Given the description of an element on the screen output the (x, y) to click on. 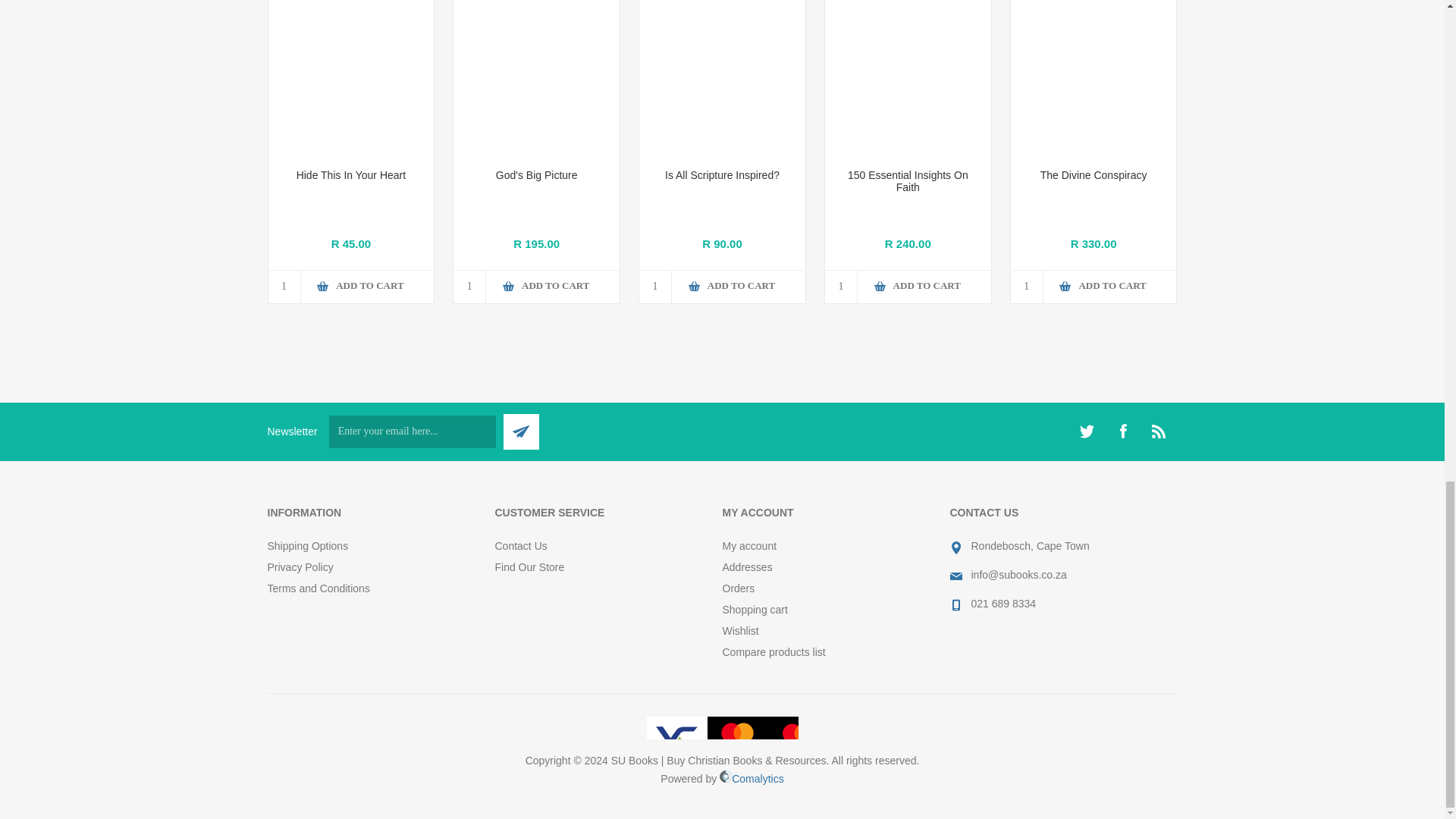
1 (469, 287)
1 (841, 287)
1 (1026, 287)
1 (655, 287)
1 (284, 287)
